Given the description of an element on the screen output the (x, y) to click on. 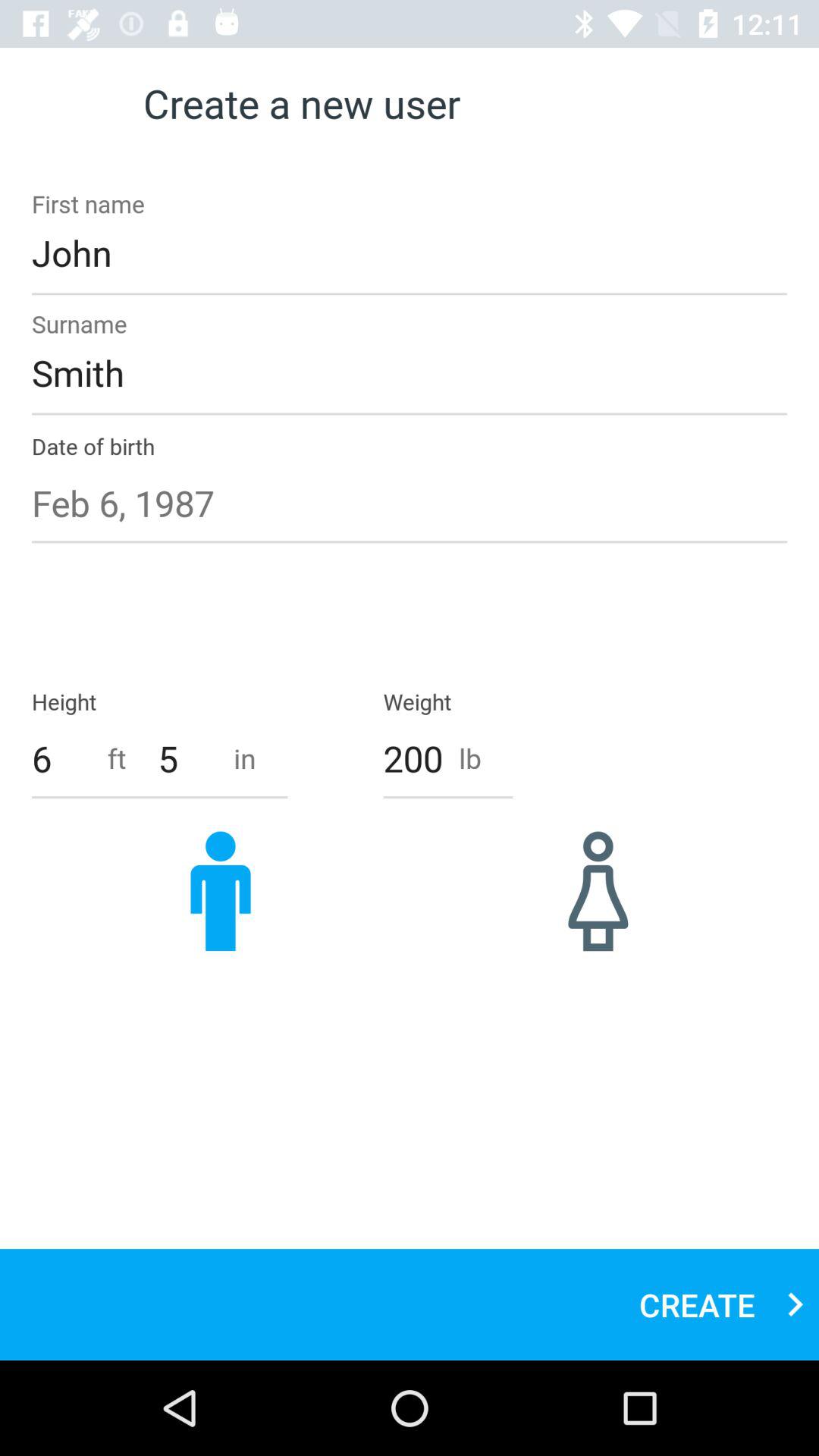
press item next to in icon (187, 758)
